Given the description of an element on the screen output the (x, y) to click on. 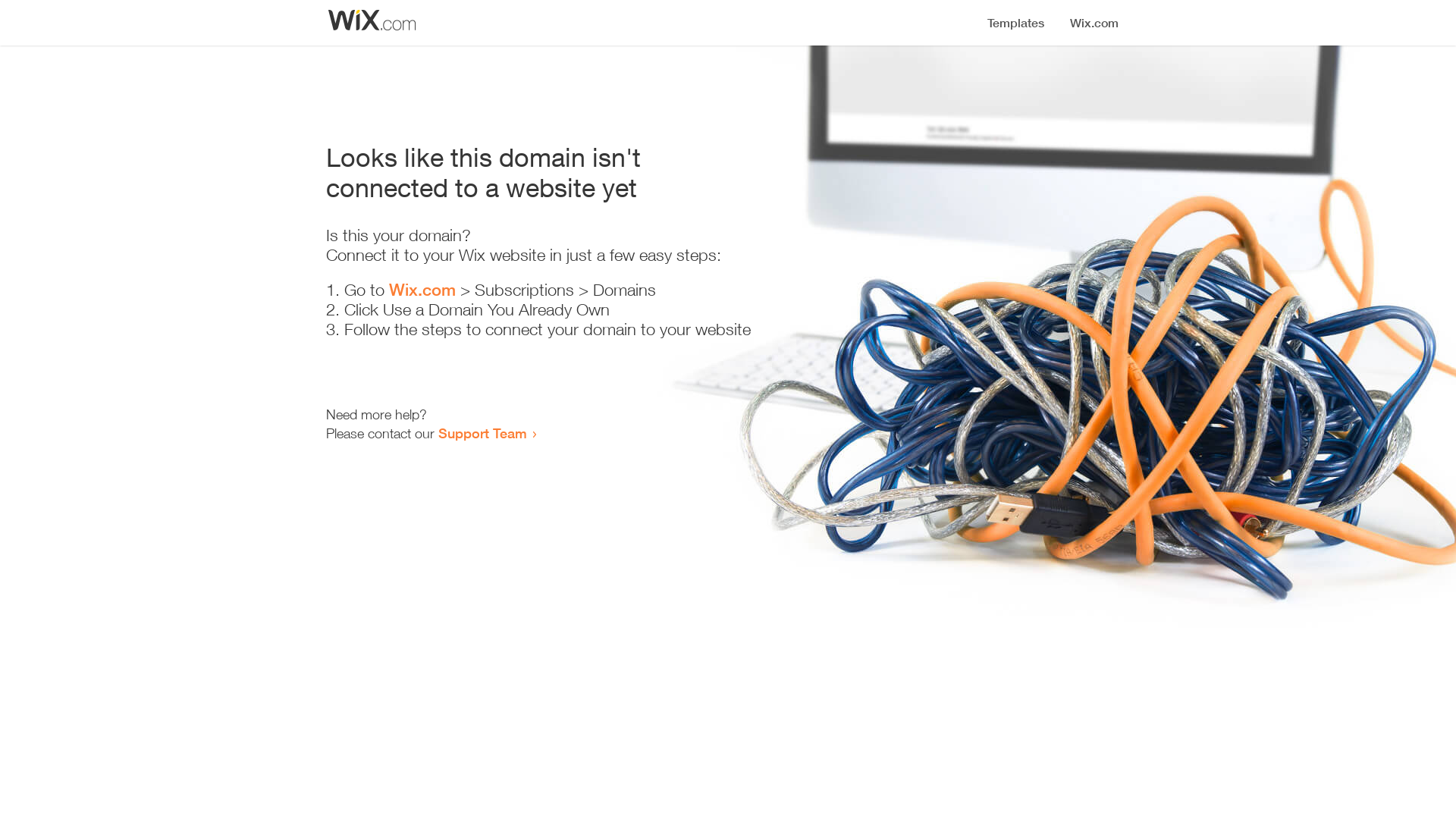
Wix.com Element type: text (422, 289)
Support Team Element type: text (482, 432)
